Given the description of an element on the screen output the (x, y) to click on. 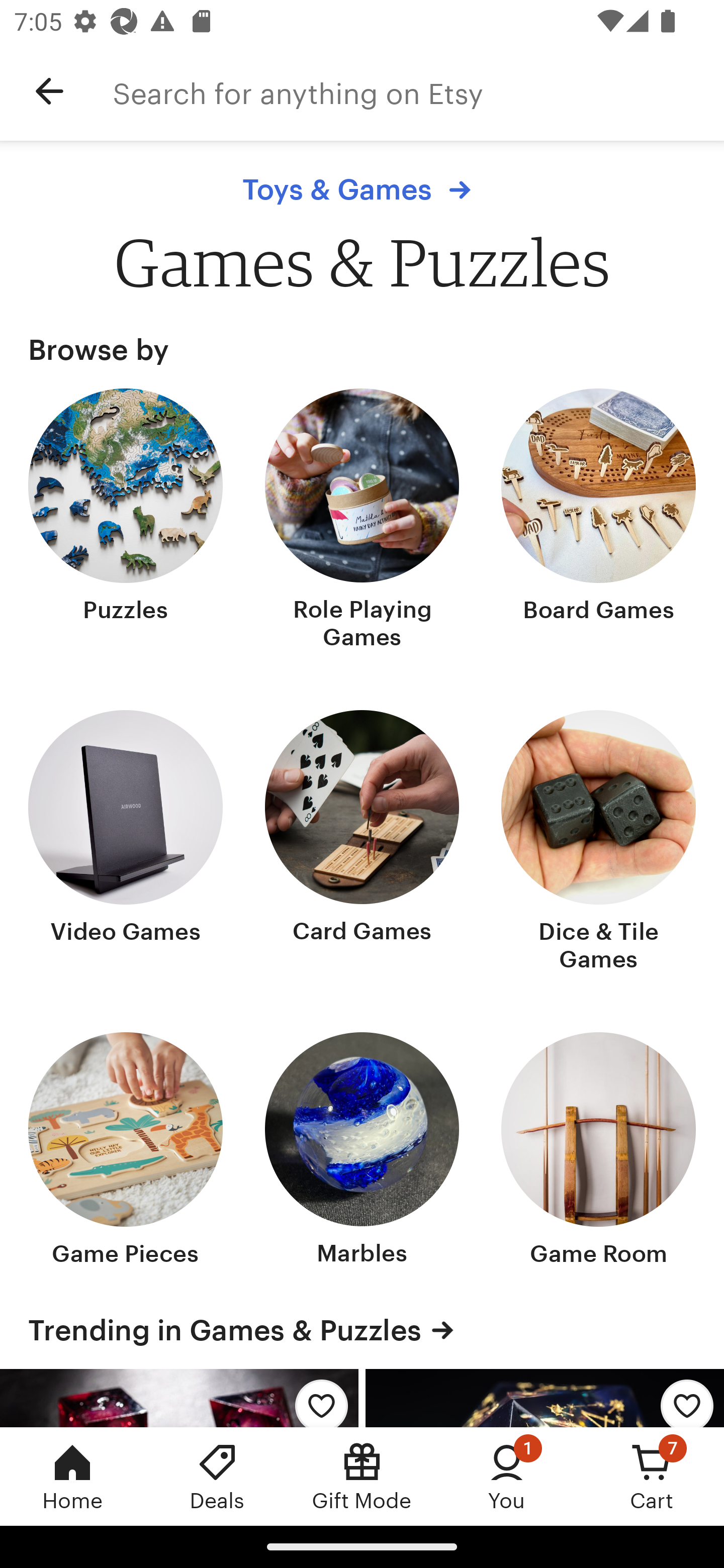
Navigate up (49, 91)
Search for anything on Etsy (418, 91)
Toys & Games (361, 189)
Puzzles (125, 520)
Role Playing Games (361, 520)
Board Games (598, 520)
Video Games (125, 842)
Card Games (361, 842)
Dice & Tile Games (598, 842)
Game Pieces (125, 1150)
Marbles (361, 1150)
Game Room (598, 1150)
Trending in Games & Puzzles  (361, 1330)
Deals (216, 1475)
Gift Mode (361, 1475)
You, 1 new notification You (506, 1475)
Cart, 7 new notifications Cart (651, 1475)
